Given the description of an element on the screen output the (x, y) to click on. 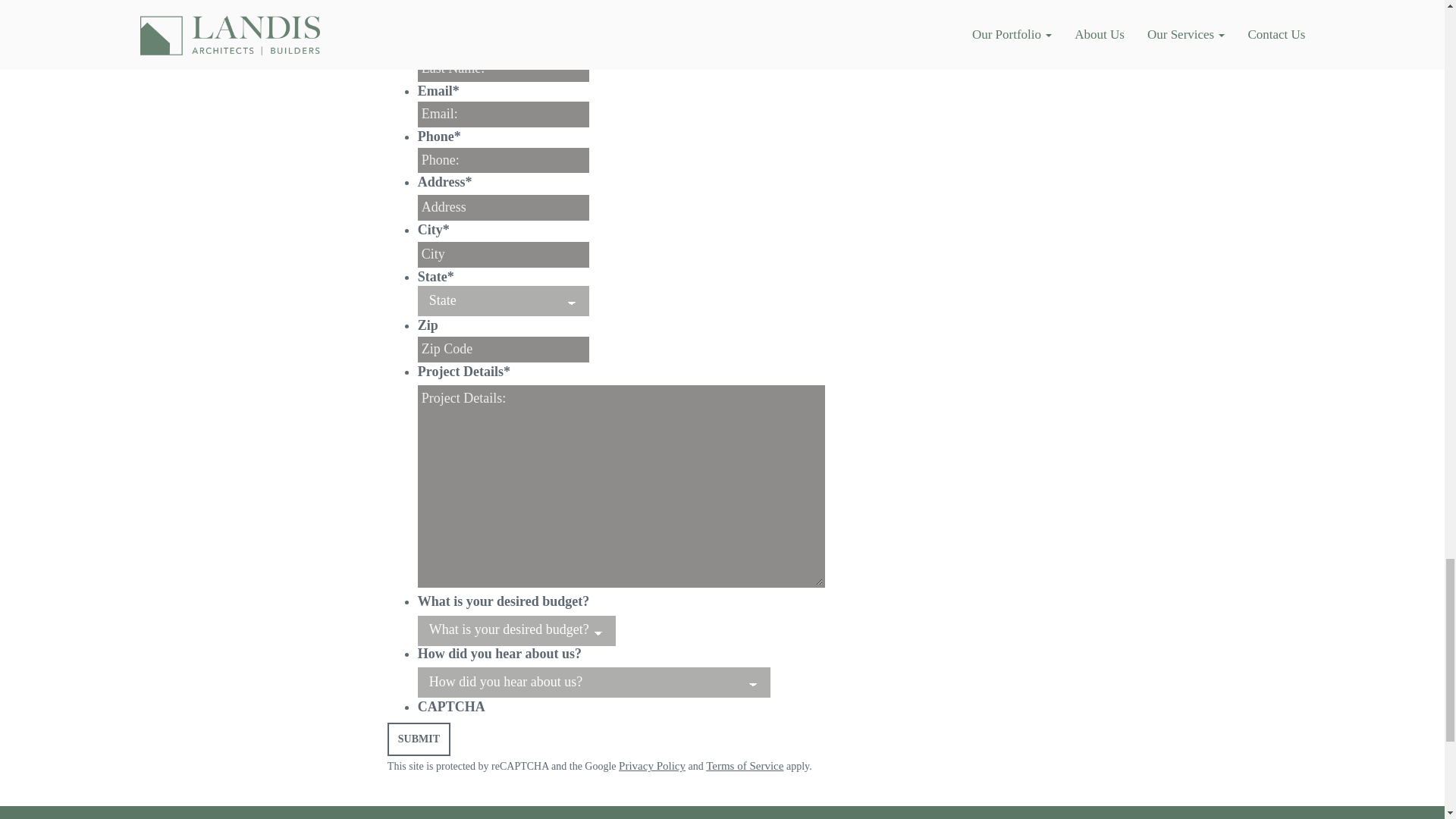
Privacy Policy (651, 766)
Submit (418, 738)
Terms of Service (744, 766)
Submit (418, 738)
